Given the description of an element on the screen output the (x, y) to click on. 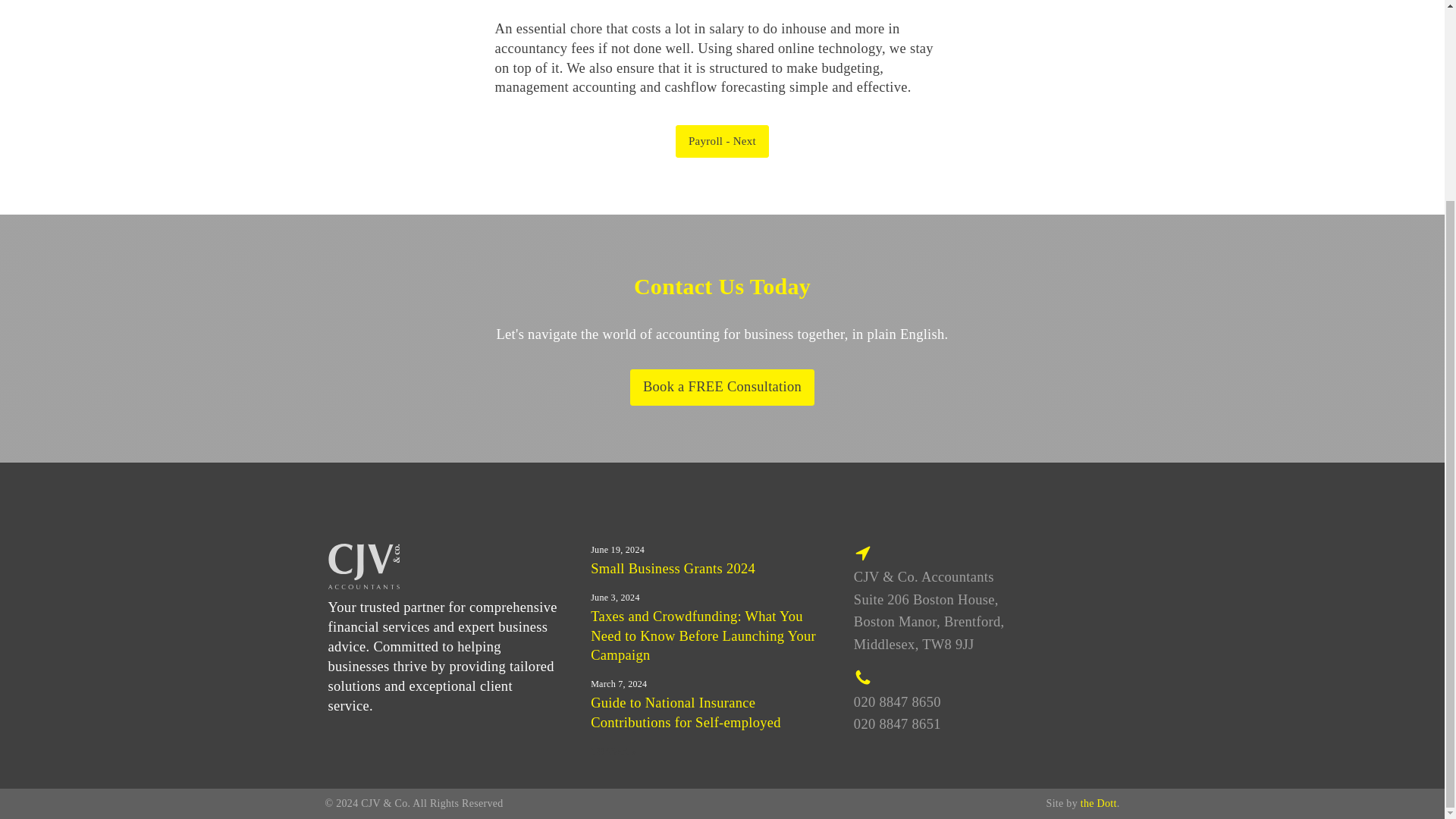
Book a FREE Consultation (721, 387)
Payroll - Next (721, 141)
Small Business Grants 2024 (673, 568)
Guide to National Insurance Contributions for Self-employed (685, 712)
